Given the description of an element on the screen output the (x, y) to click on. 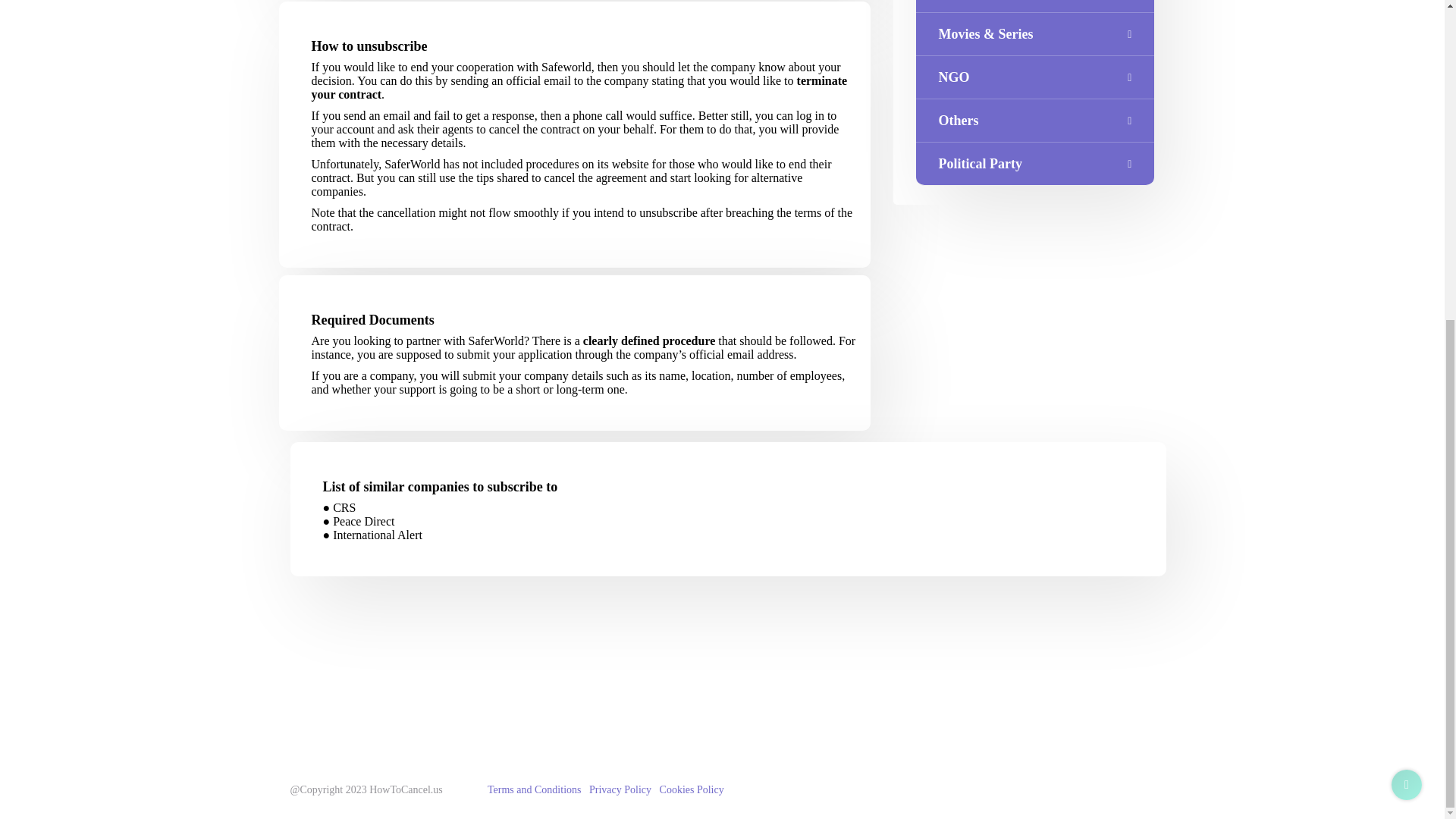
Log In (554, 0)
